Given the description of an element on the screen output the (x, y) to click on. 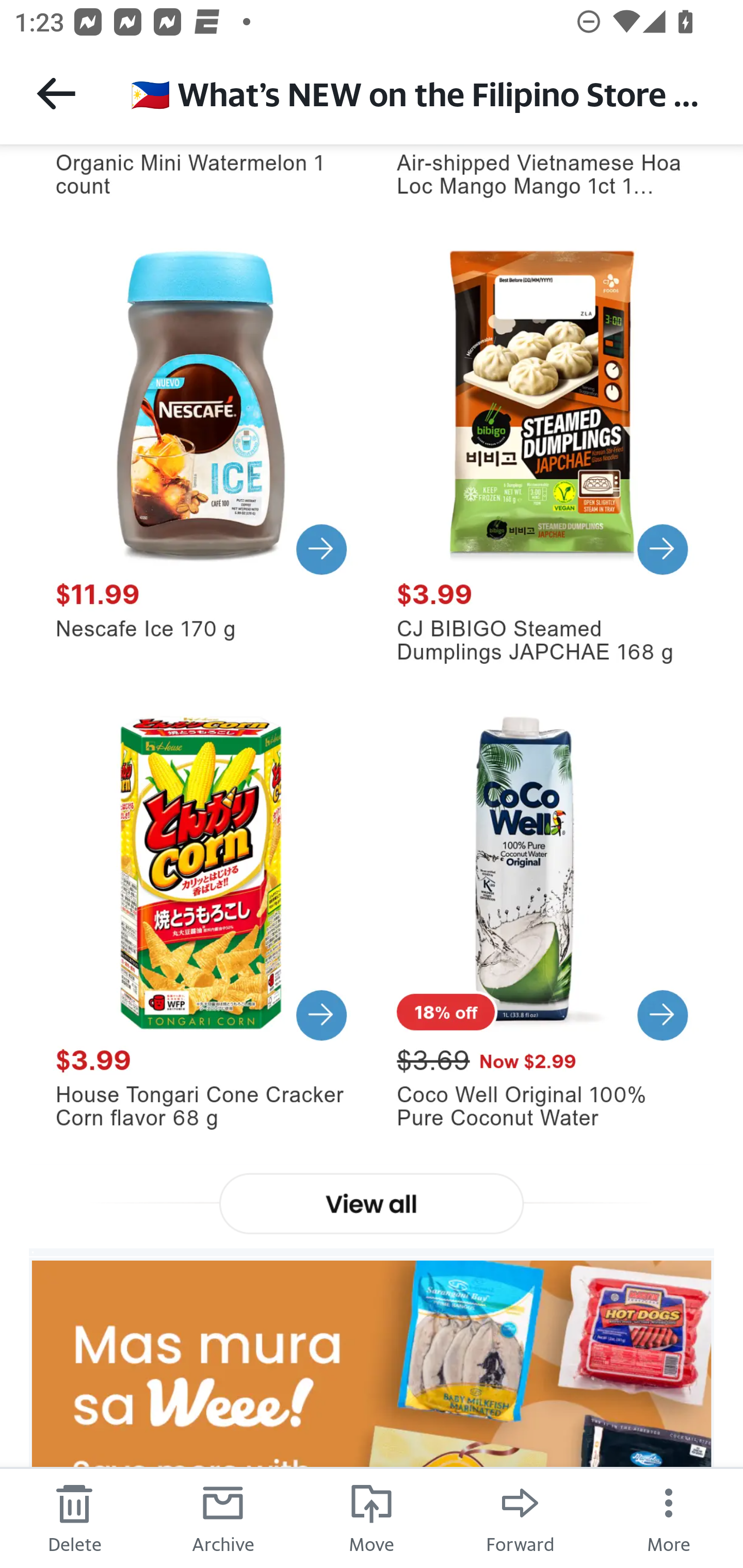
Back (55, 92)
Delete (74, 1517)
Archive (222, 1517)
Move (371, 1517)
Forward (519, 1517)
More (668, 1517)
